Given the description of an element on the screen output the (x, y) to click on. 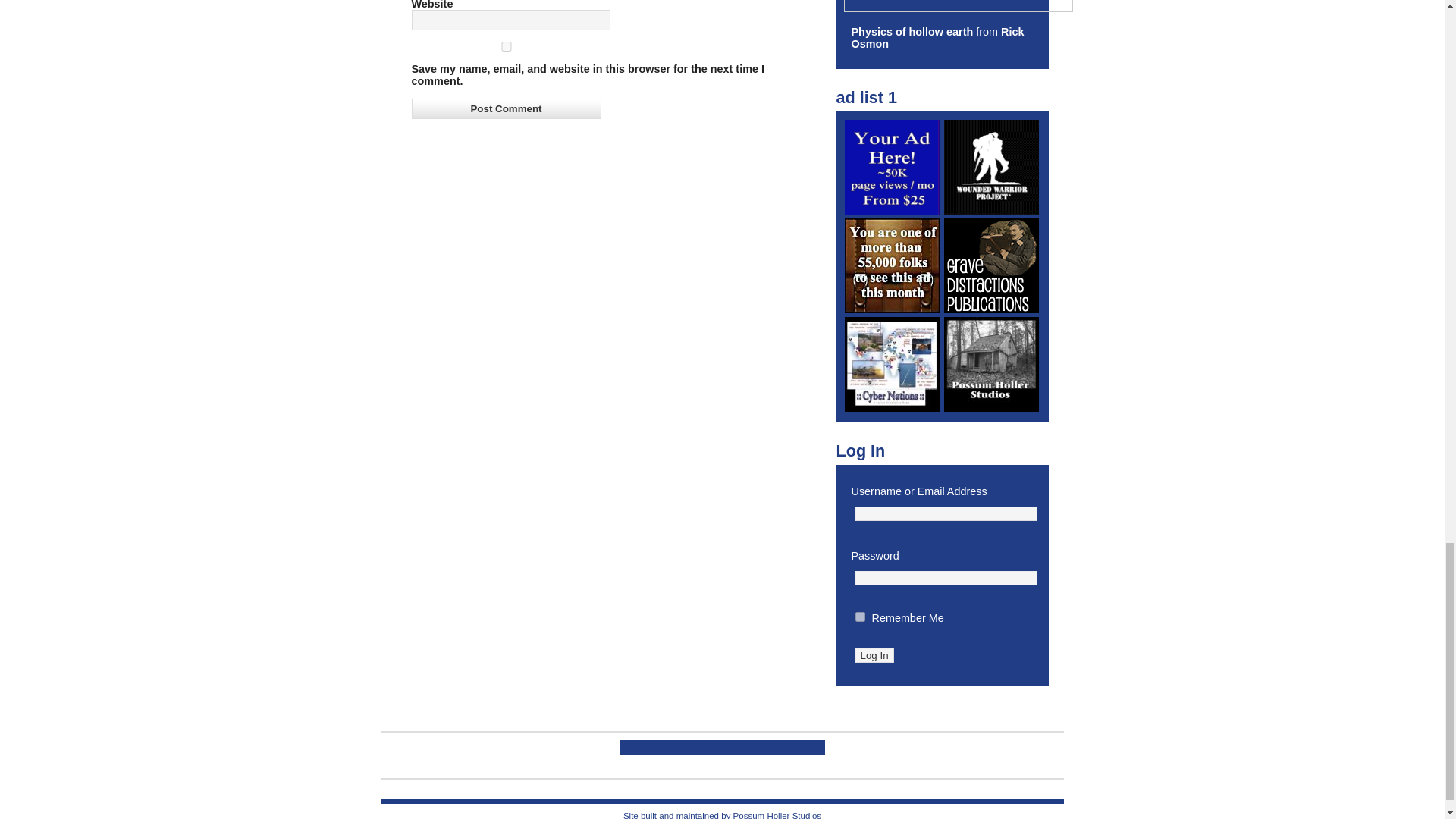
forever (860, 616)
yes (504, 46)
Post Comment (504, 108)
Physics of Hollow Earth (911, 31)
Post Comment (504, 108)
